Given the description of an element on the screen output the (x, y) to click on. 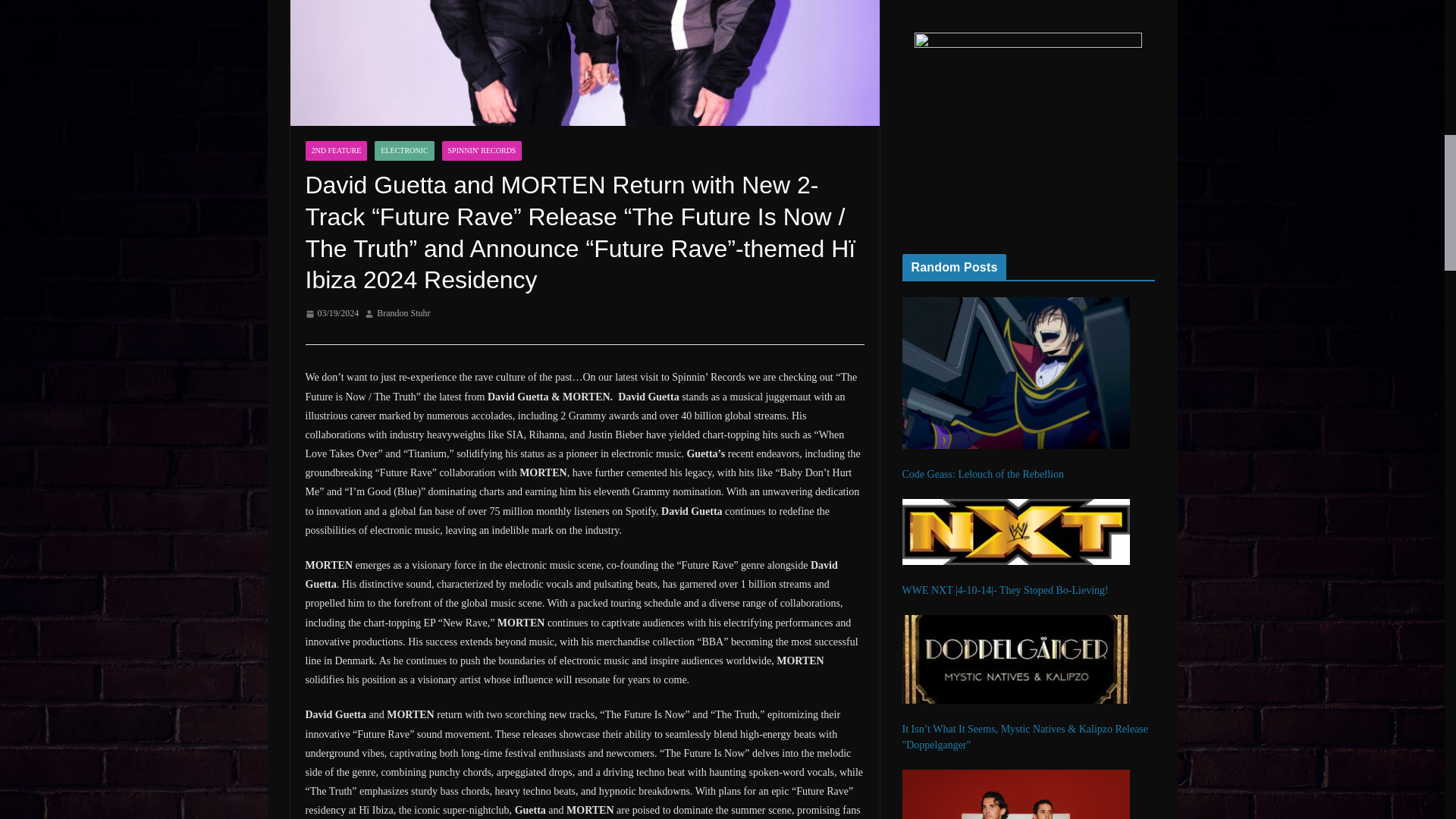
Brandon Stuhr (403, 313)
2ND FEATURE (335, 150)
Brandon Stuhr (403, 313)
ELECTRONIC (403, 150)
SPINNIN' RECORDS (482, 150)
8:00 am (331, 313)
